Given the description of an element on the screen output the (x, y) to click on. 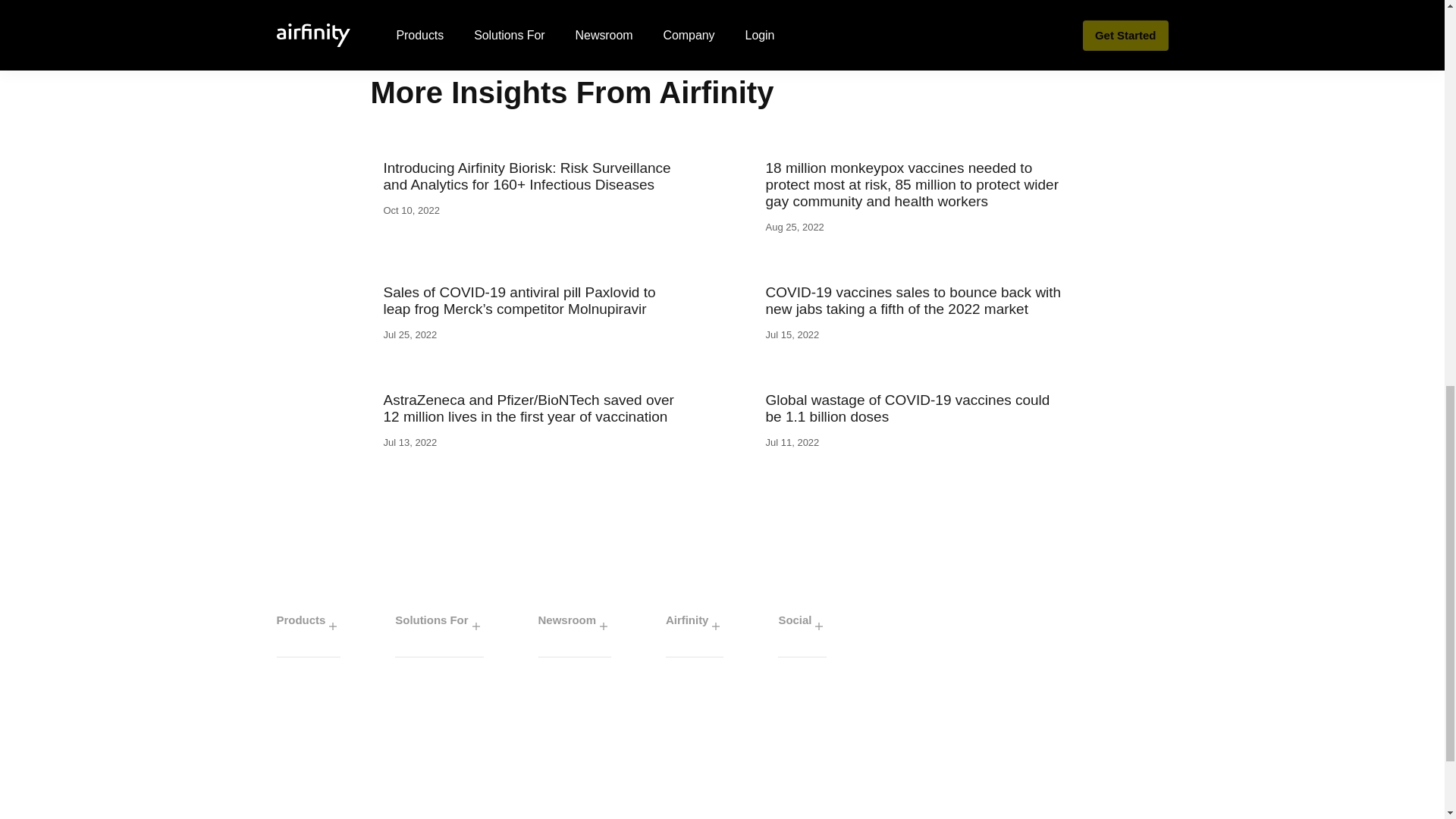
Products (308, 626)
iframe (721, 738)
Solutions For (438, 626)
